Given the description of an element on the screen output the (x, y) to click on. 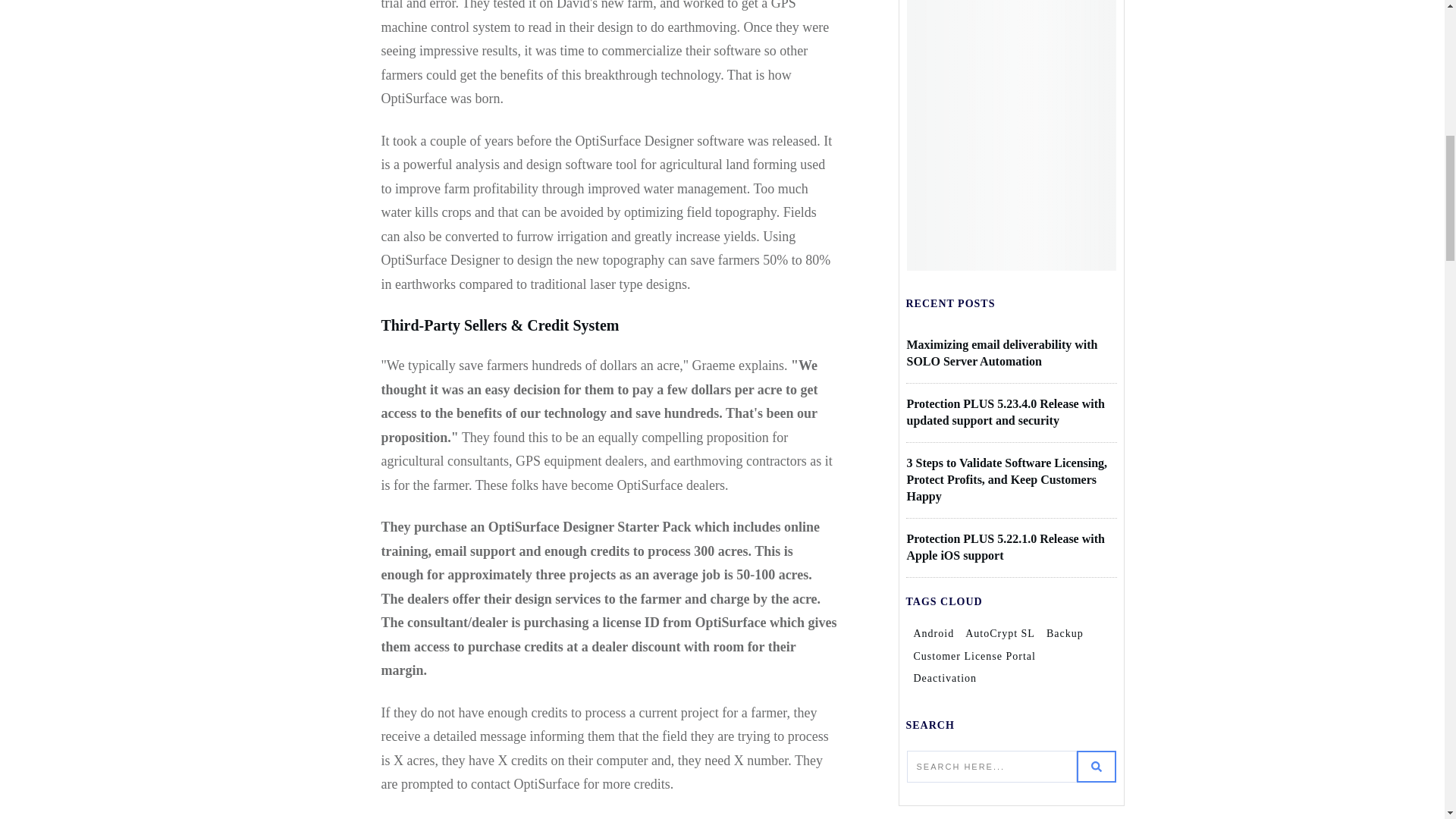
Protection PLUS 5.22.1.0 Release with Apple iOS support (1006, 546)
Maximizing email deliverability with SOLO Server Automation (1002, 352)
